Given the description of an element on the screen output the (x, y) to click on. 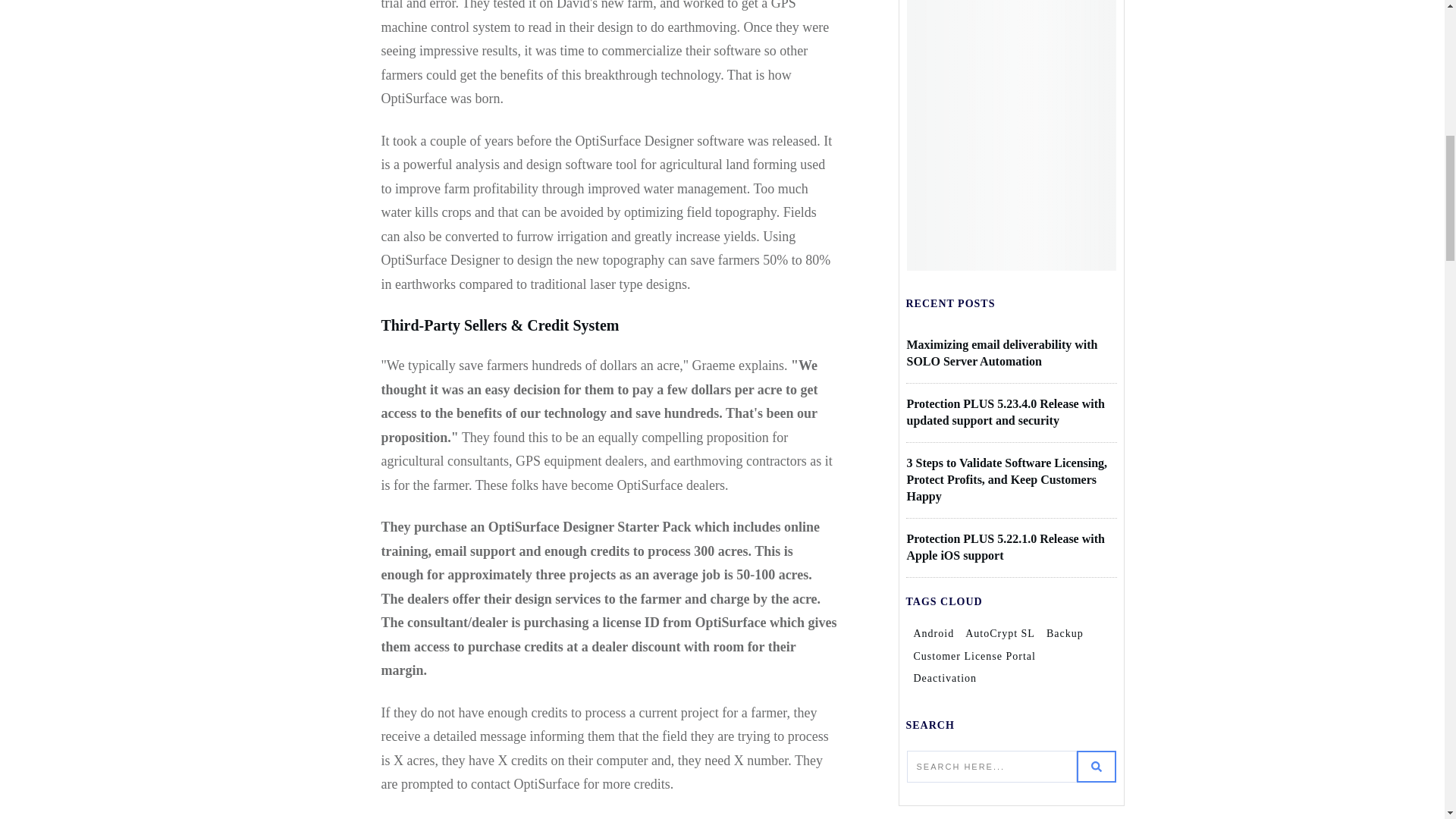
Protection PLUS 5.22.1.0 Release with Apple iOS support (1006, 546)
Maximizing email deliverability with SOLO Server Automation (1002, 352)
